Given the description of an element on the screen output the (x, y) to click on. 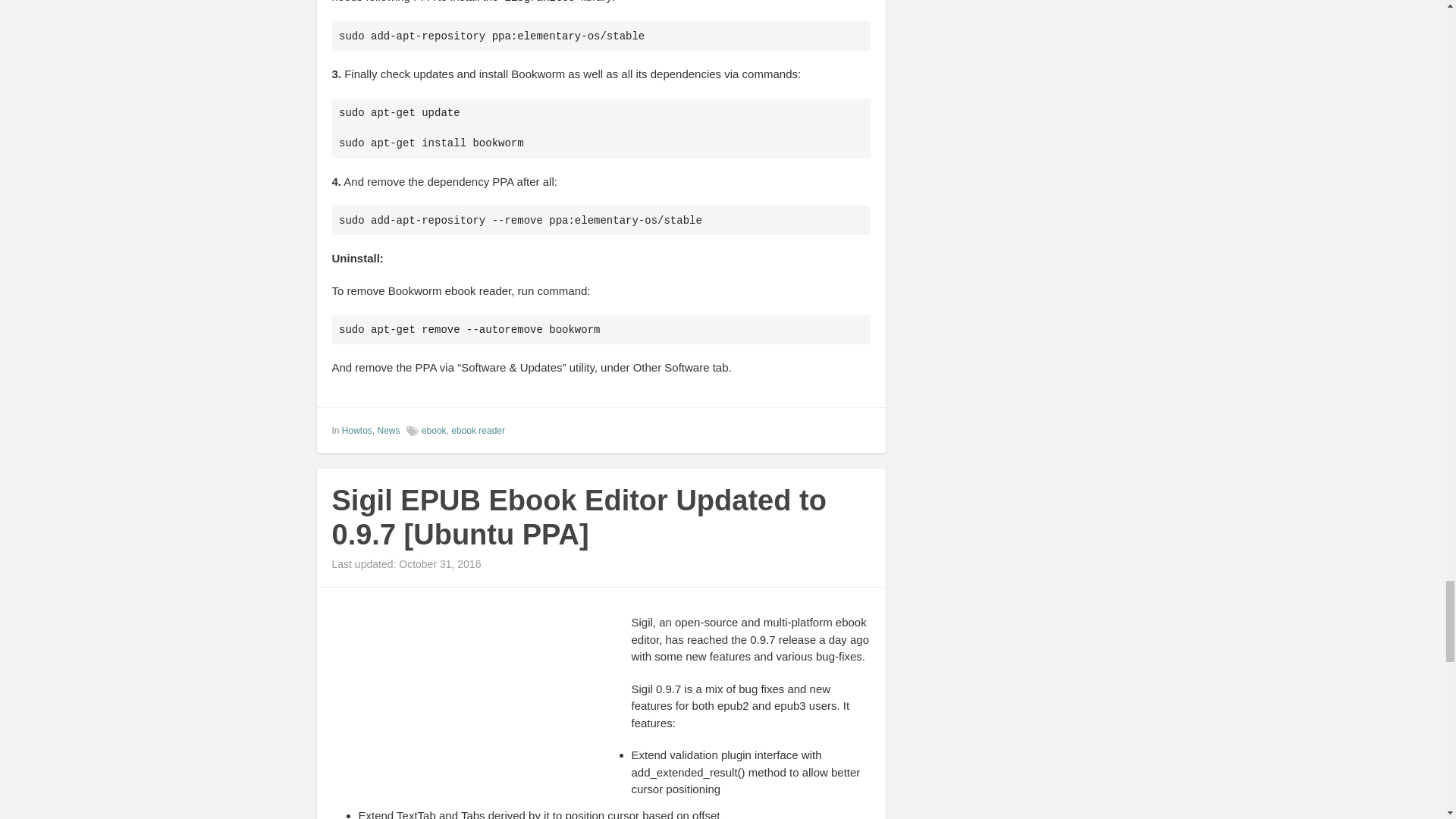
News (388, 430)
Howtos (357, 430)
ebook (434, 430)
permalink (860, 429)
ebook reader (478, 430)
